Given the description of an element on the screen output the (x, y) to click on. 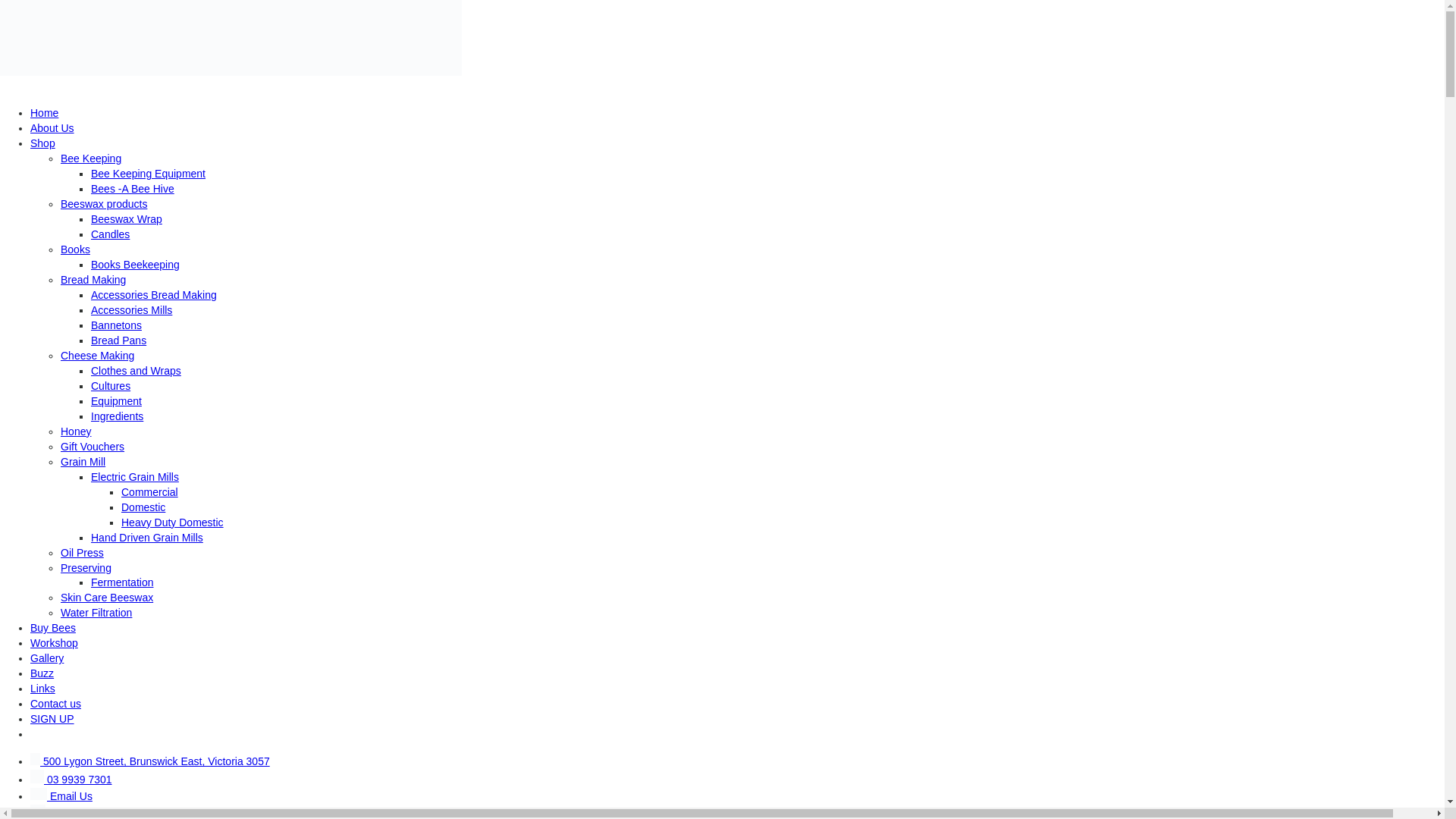
Grain Mill (82, 461)
Ingredients (116, 416)
Home (44, 112)
Preserving (86, 567)
Commercial (148, 491)
Honey (75, 431)
Bee Keeping Equipment (147, 173)
Skin Care Beeswax (106, 597)
Bee Keeping (90, 158)
Fermentation (121, 582)
